Given the description of an element on the screen output the (x, y) to click on. 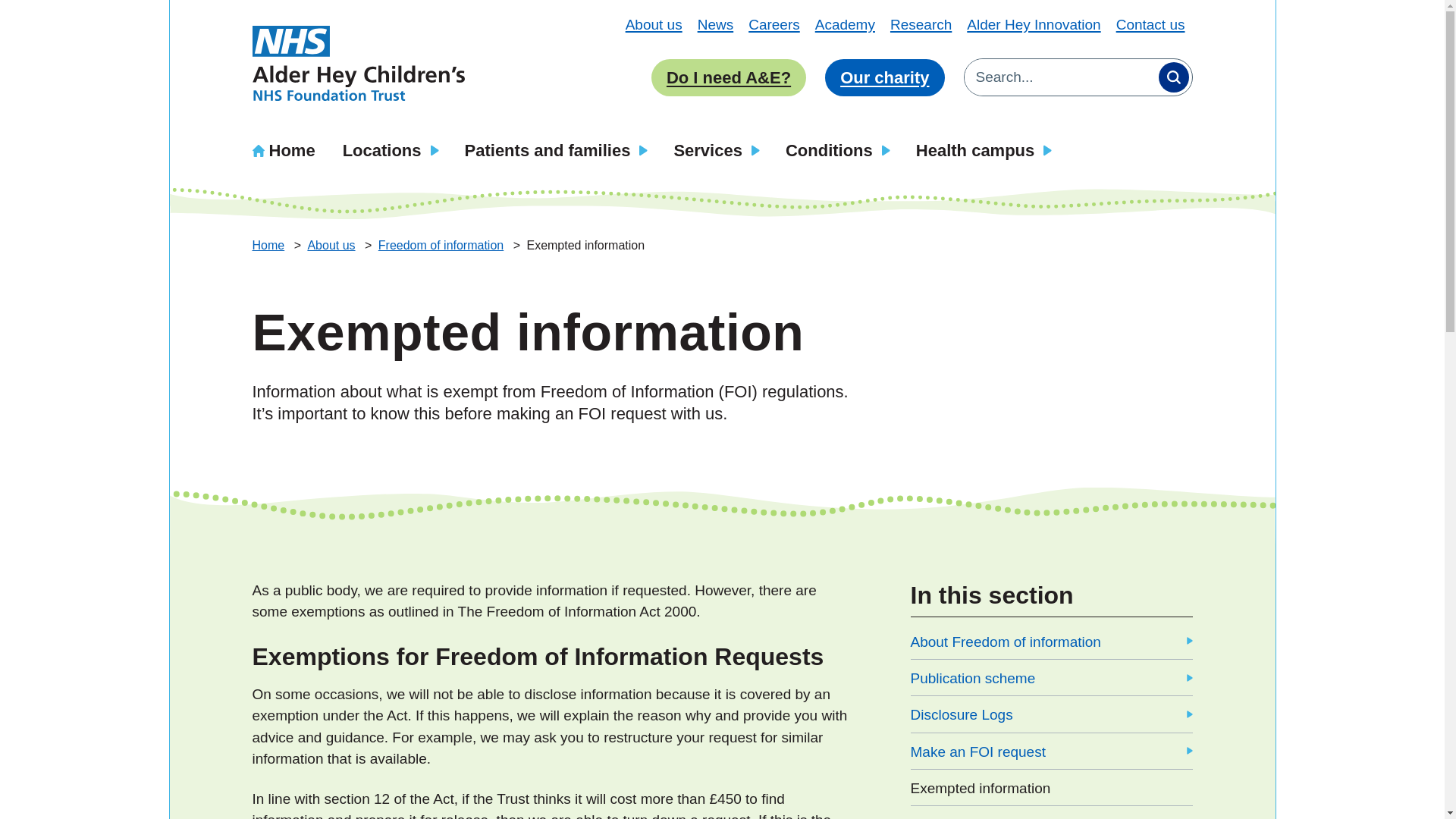
Academy (845, 24)
Our charity (884, 77)
Go to About us. (332, 245)
Alder Hey Innovation (1033, 24)
Patients and families (556, 149)
Go to Home. (268, 245)
About us (654, 24)
Research (920, 24)
Services (715, 149)
Locations (390, 149)
